Given the description of an element on the screen output the (x, y) to click on. 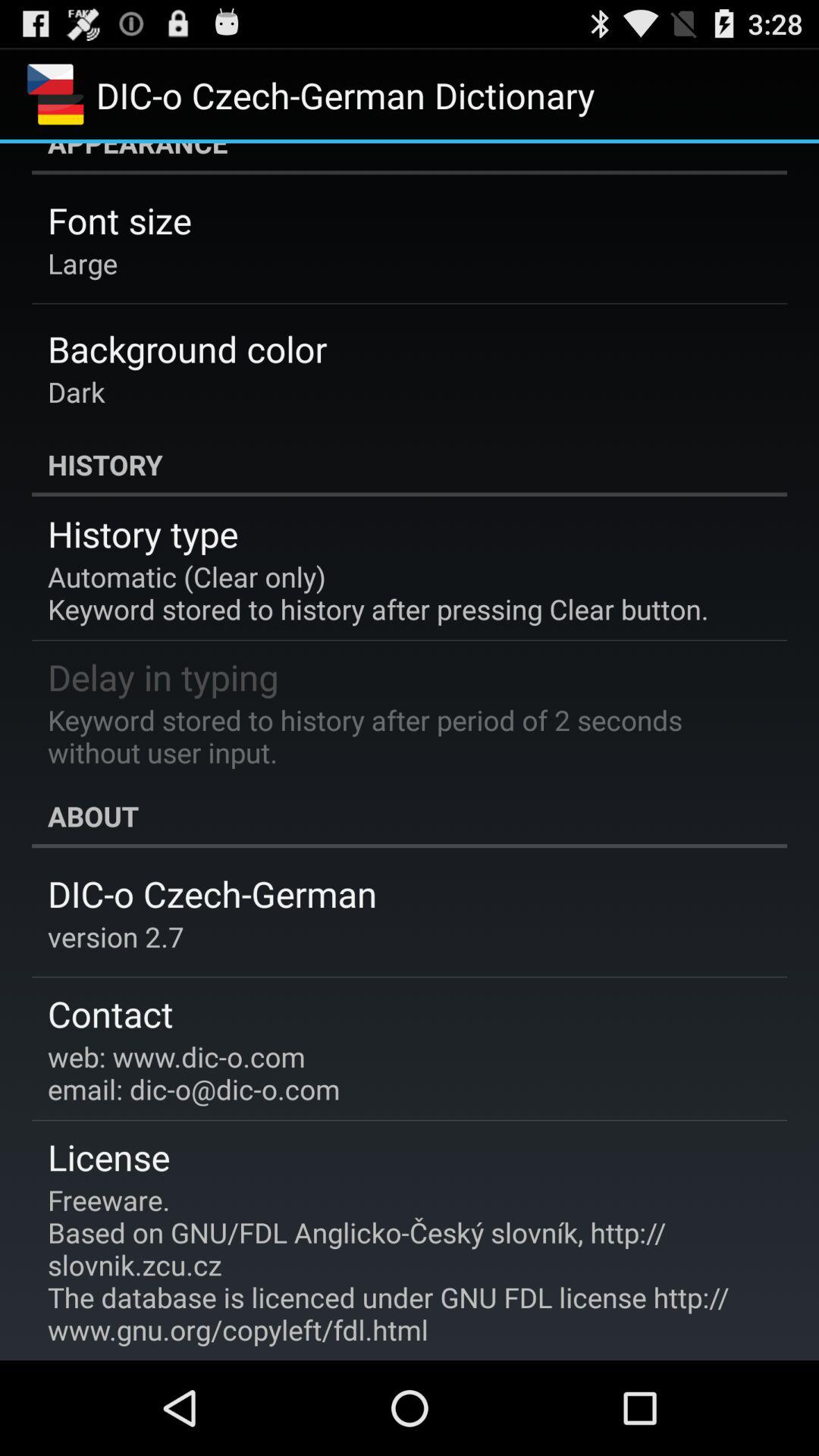
tap the icon below the background color icon (76, 391)
